Given the description of an element on the screen output the (x, y) to click on. 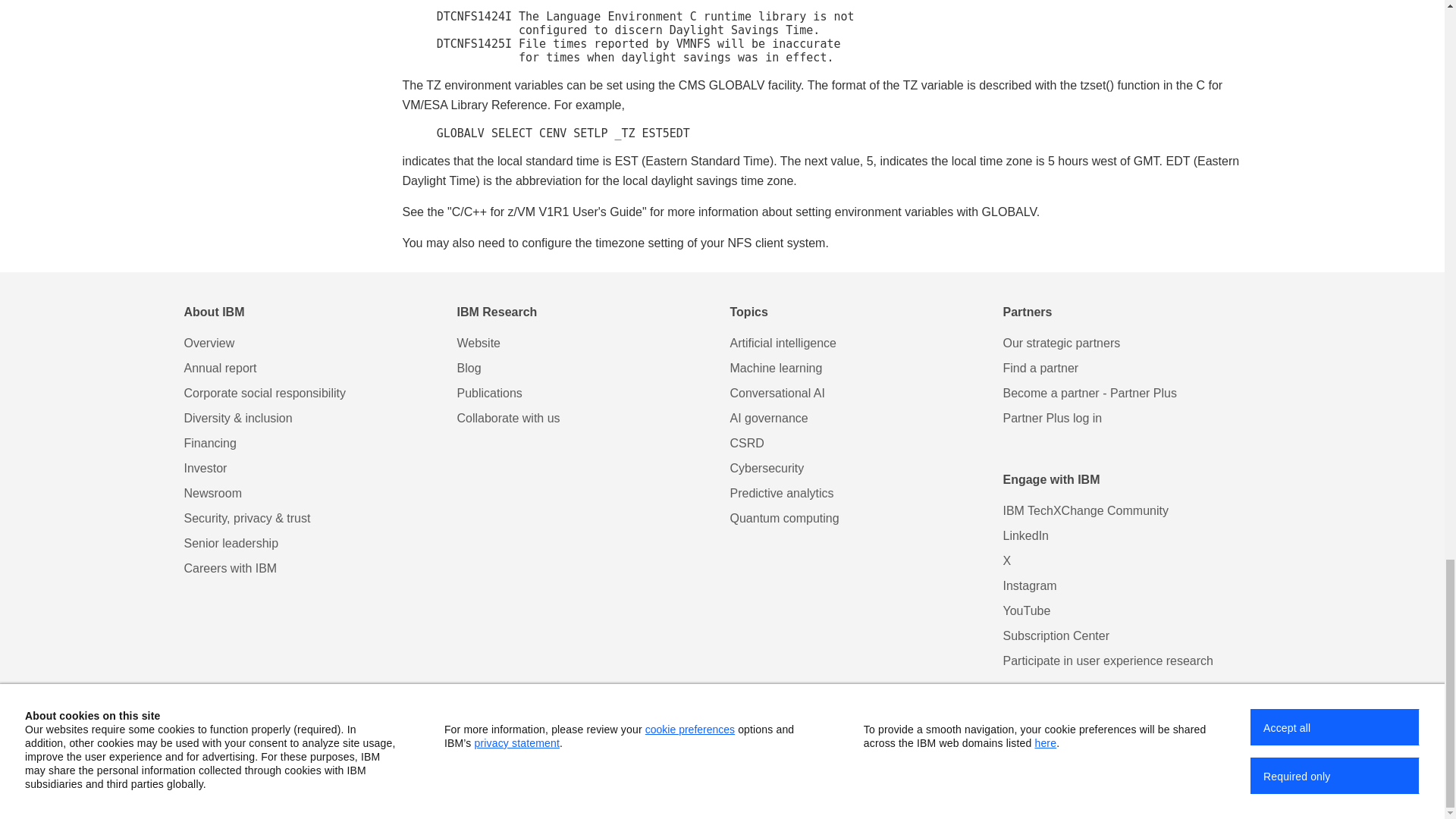
United States - English (1132, 736)
